Given the description of an element on the screen output the (x, y) to click on. 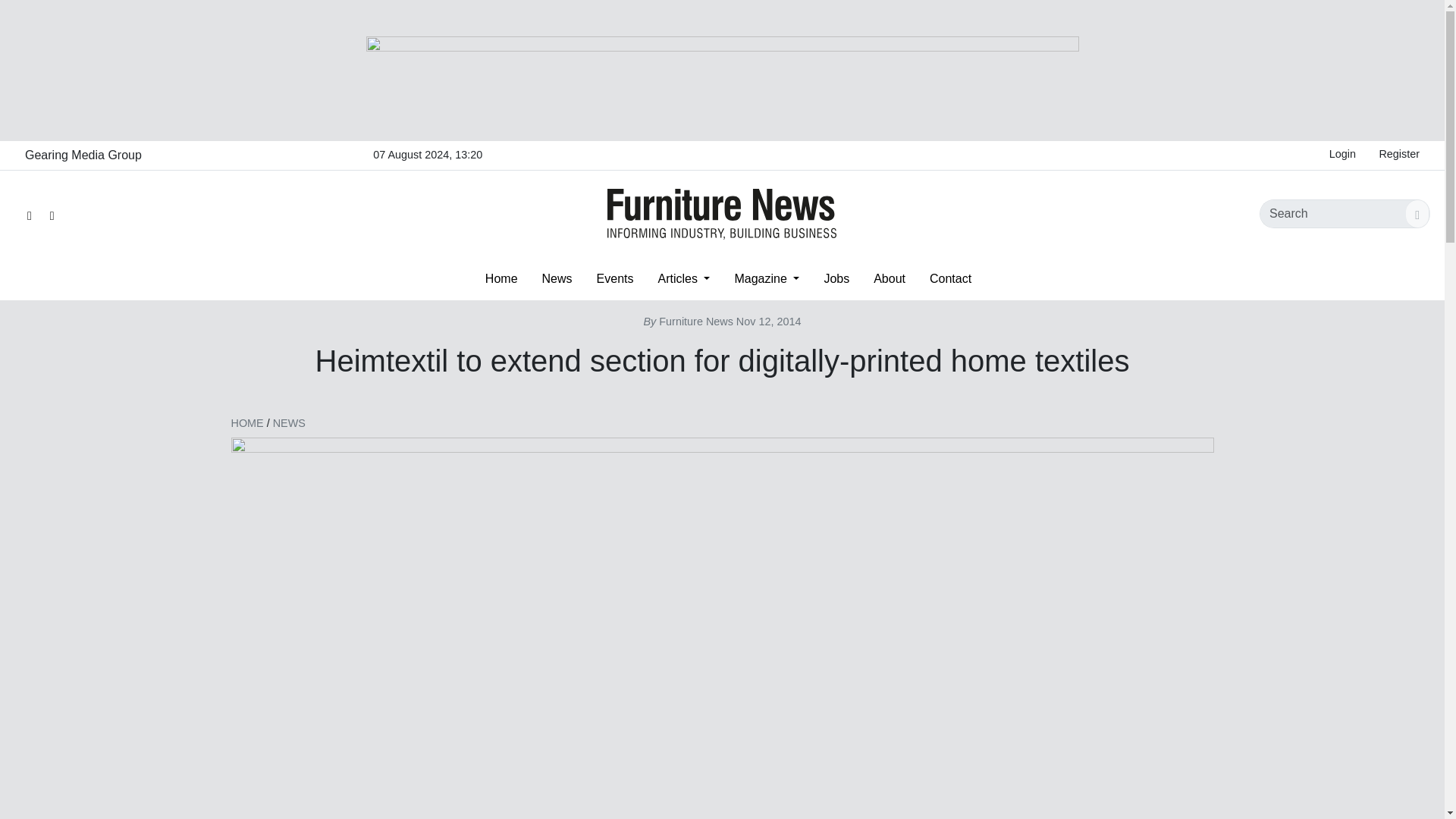
Jobs (835, 278)
Home (501, 278)
NEWS (289, 422)
Events (615, 278)
Login (1342, 154)
Contact (950, 278)
Gearing Media Group (82, 154)
About (889, 278)
Register (1398, 154)
News (557, 278)
HOME (246, 422)
Articles (683, 278)
Magazine (766, 278)
